Given the description of an element on the screen output the (x, y) to click on. 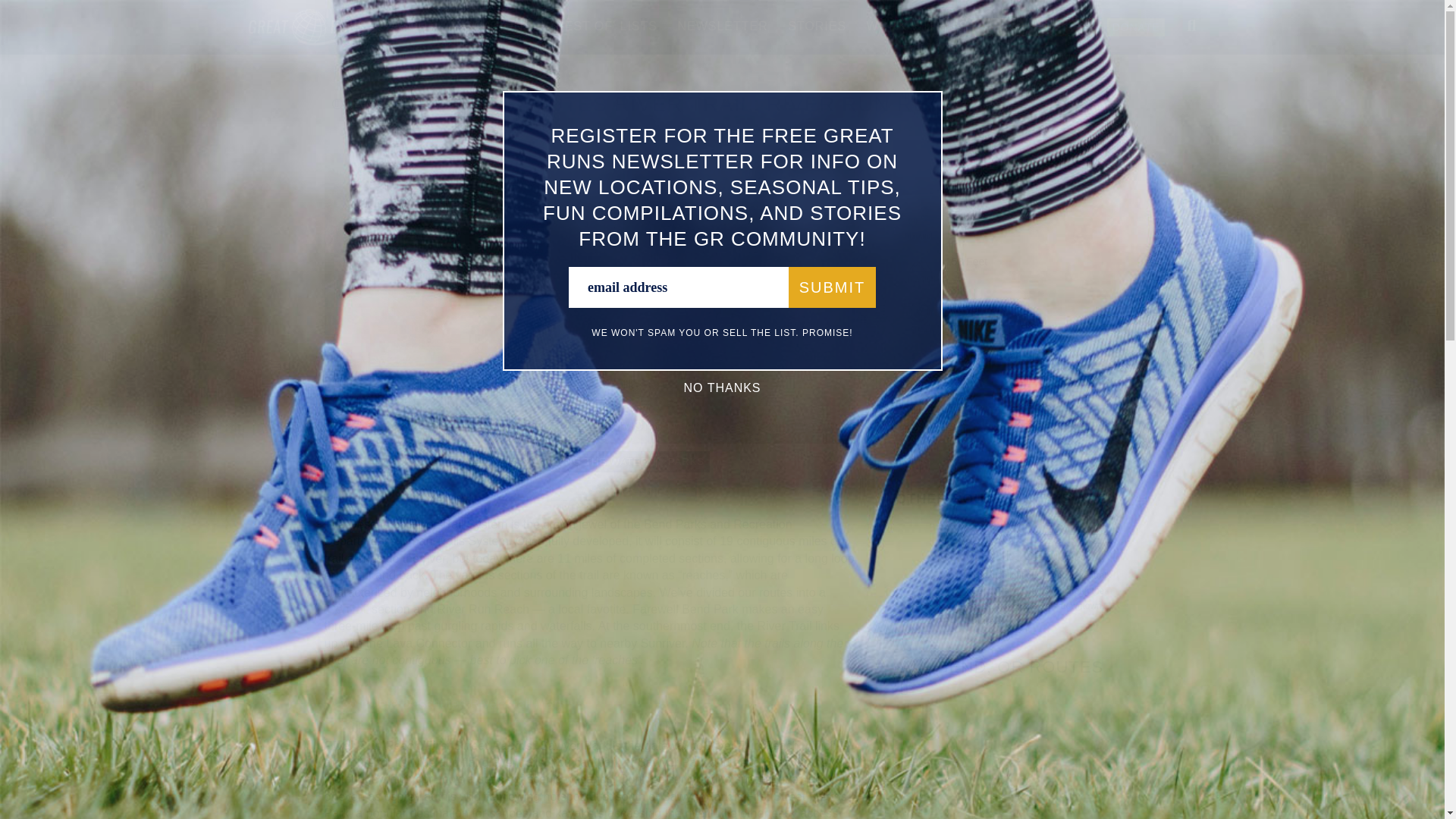
Submit (832, 286)
Submit (832, 286)
ABOUT (412, 25)
LOCATIONS (494, 25)
Great Runs (319, 41)
